Given the description of an element on the screen output the (x, y) to click on. 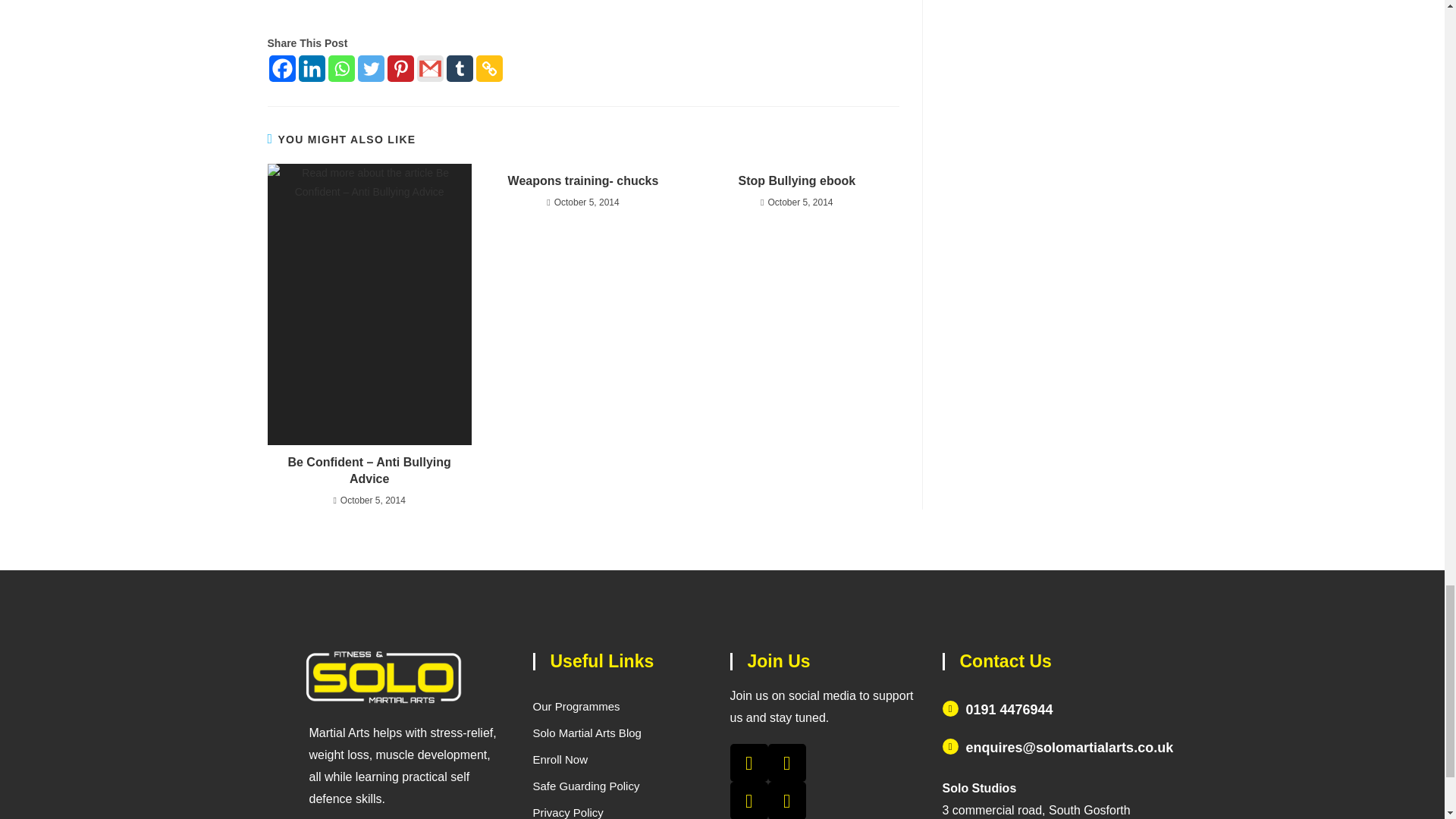
Google Gmail (430, 68)
Pinterest (400, 68)
Tumblr (458, 68)
Facebook (281, 68)
Copy Link (489, 68)
Linkedin (311, 68)
Whatsapp (340, 68)
Twitter (371, 68)
